Given the description of an element on the screen output the (x, y) to click on. 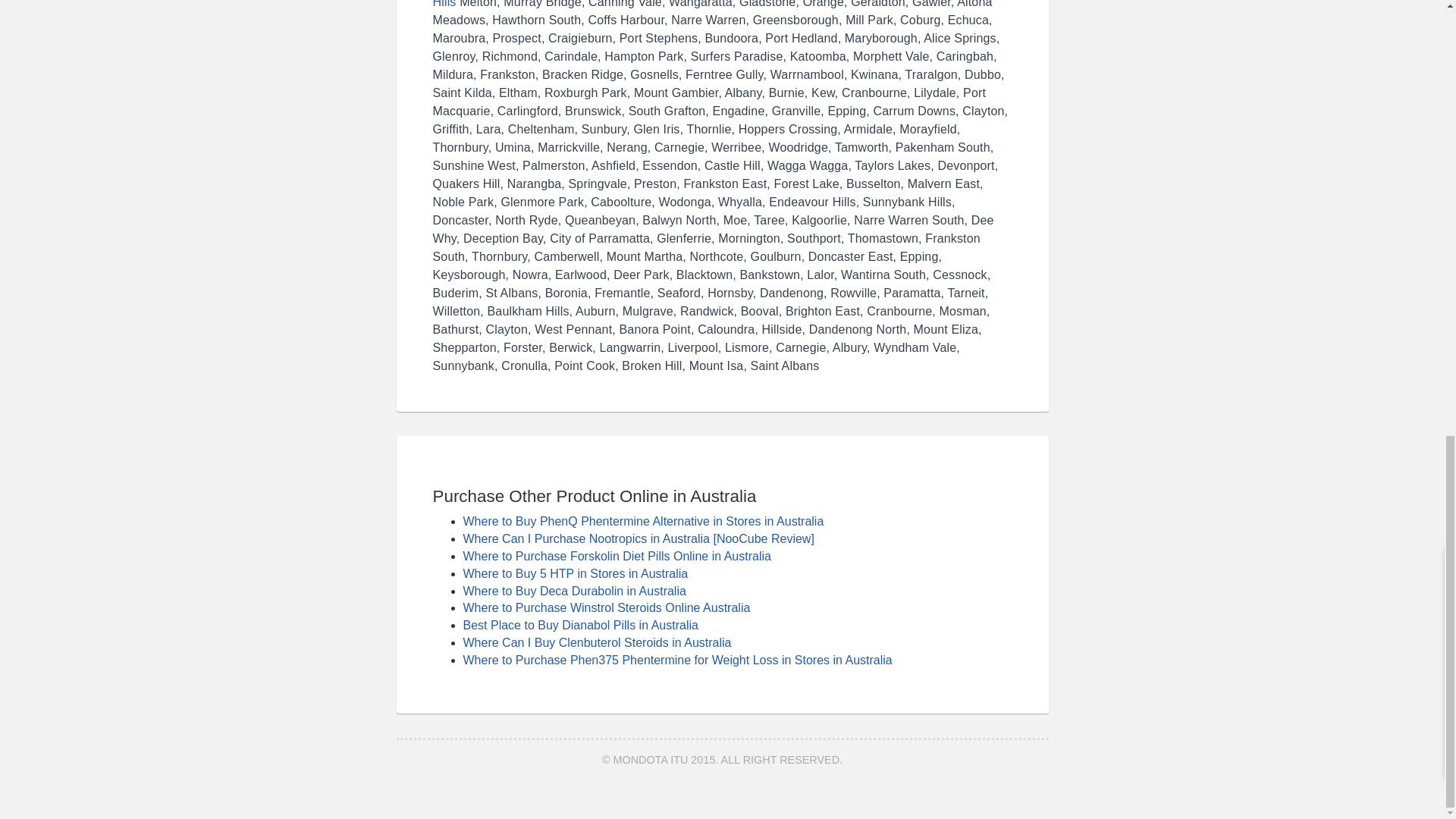
Where to Purchase Winstrol Steroids Online Australia (606, 607)
Where to Buy Deca Durabolin in Australia (574, 590)
Where to Purchase Forskolin Diet Pills Online in Australia (616, 555)
Where to Buy 5 HTP in Stores in Australia (575, 573)
Best Place to Buy Dianabol Pills in Australia (580, 625)
